Given the description of an element on the screen output the (x, y) to click on. 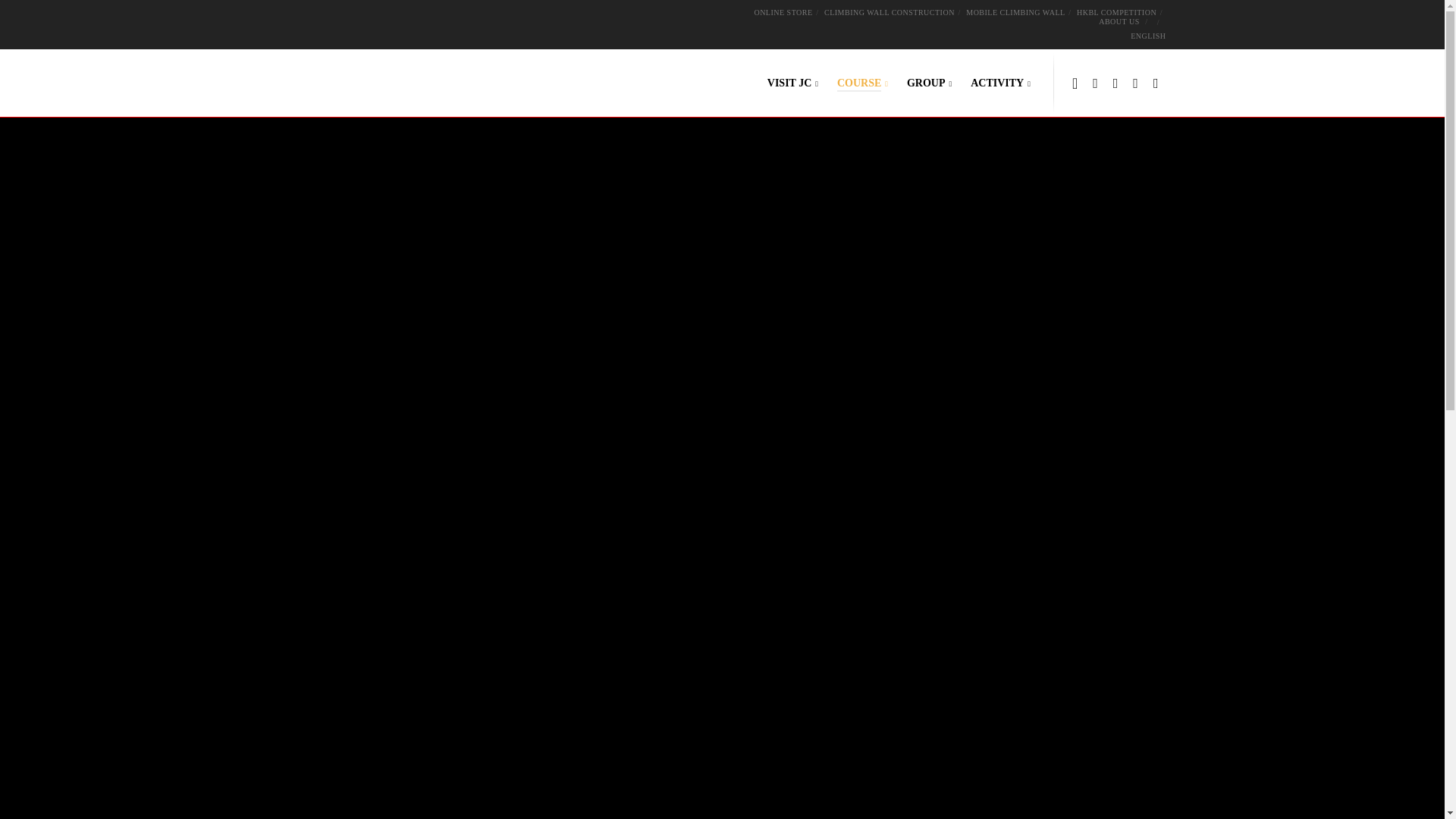
CLIMBING WALL CONSTRUCTION (889, 12)
MOBILE CLIMBING WALL (1015, 12)
HKBL COMPETITION (1116, 12)
VISIT JC (783, 83)
ONLINE STORE (783, 12)
ENGLISH (1145, 35)
ABOUT US (1119, 21)
COURSE (853, 83)
GROUP (920, 83)
